Given the description of an element on the screen output the (x, y) to click on. 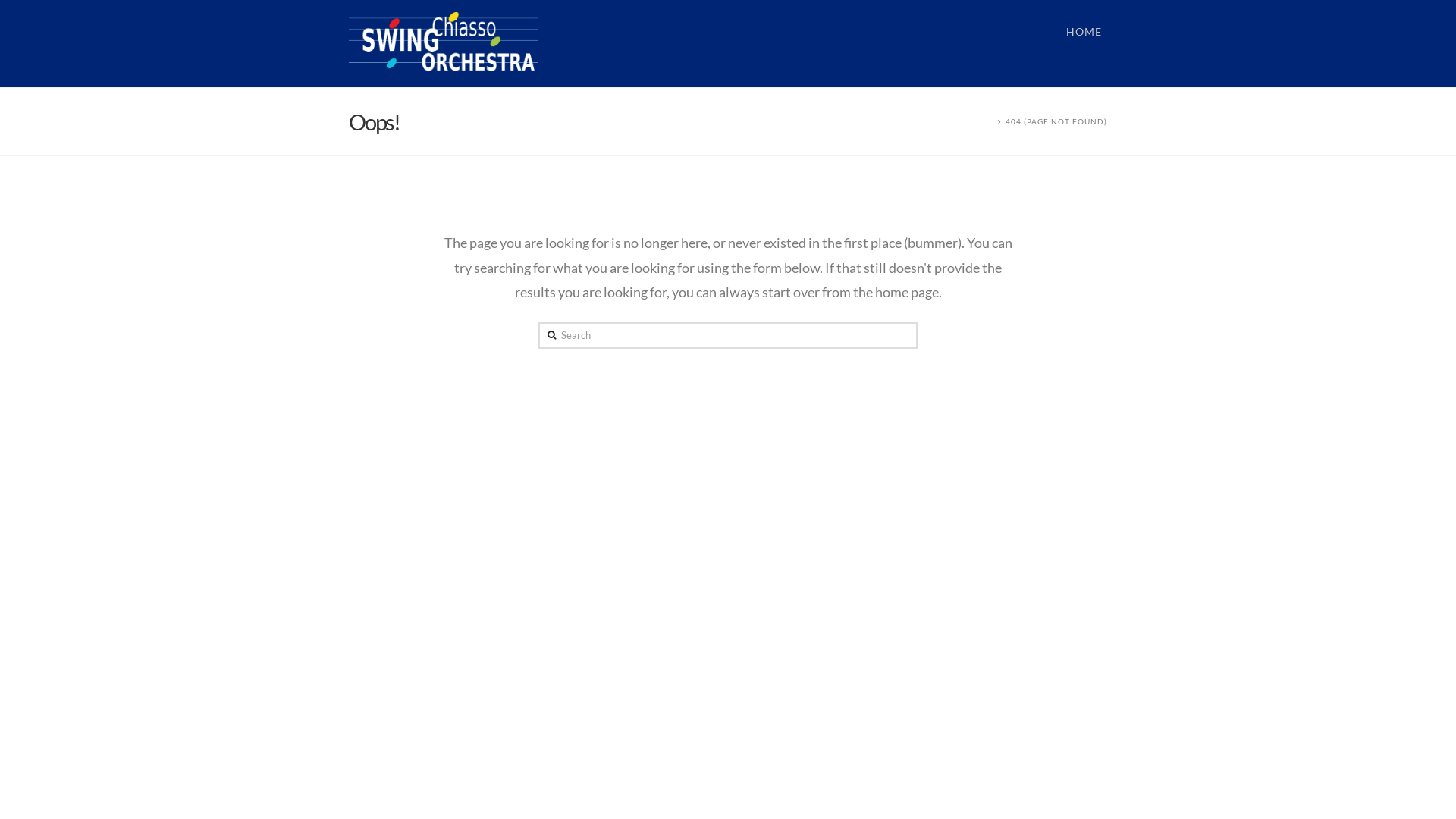
HOME Element type: text (1083, 43)
Chiasso Swing Orchestra Element type: hover (443, 41)
